Given the description of an element on the screen output the (x, y) to click on. 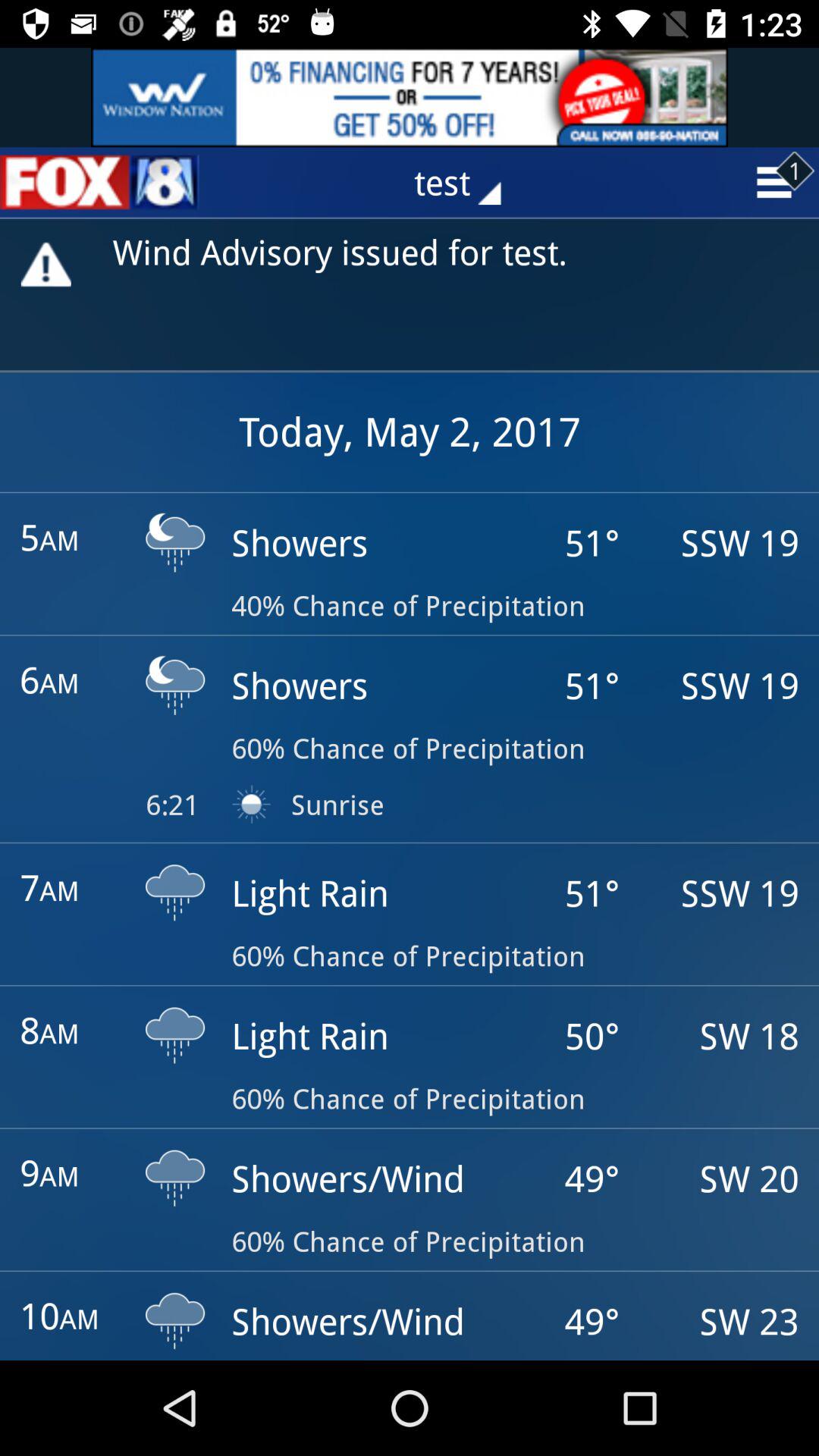
turn off item next to test (99, 182)
